Given the description of an element on the screen output the (x, y) to click on. 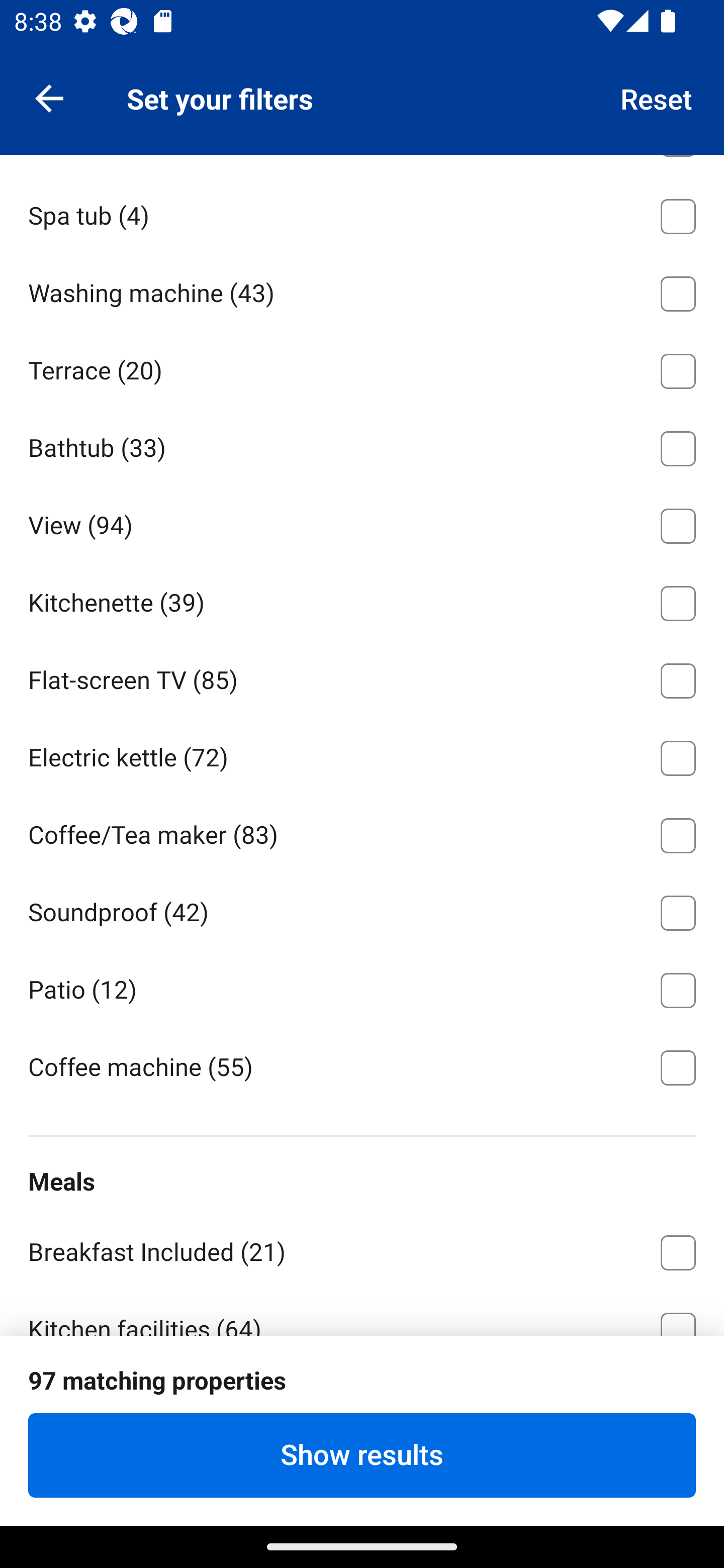
Navigate up (49, 97)
Reset (656, 97)
Spa tub ⁦(4) (361, 213)
Washing machine ⁦(43) (361, 290)
Terrace ⁦(20) (361, 367)
Bathtub ⁦(33) (361, 445)
View ⁦(94) (361, 522)
Kitchenette ⁦(39) (361, 599)
Flat-screen TV ⁦(85) (361, 677)
Electric kettle ⁦(72) (361, 754)
Coffee/Tea maker ⁦(83) (361, 831)
Soundproof ⁦(42) (361, 909)
Patio ⁦(12) (361, 986)
Coffee machine ⁦(55) (361, 1066)
Breakfast Included ⁦(21) (361, 1248)
Kitchen facilities ⁦(64) (361, 1311)
Show results (361, 1454)
